Given the description of an element on the screen output the (x, y) to click on. 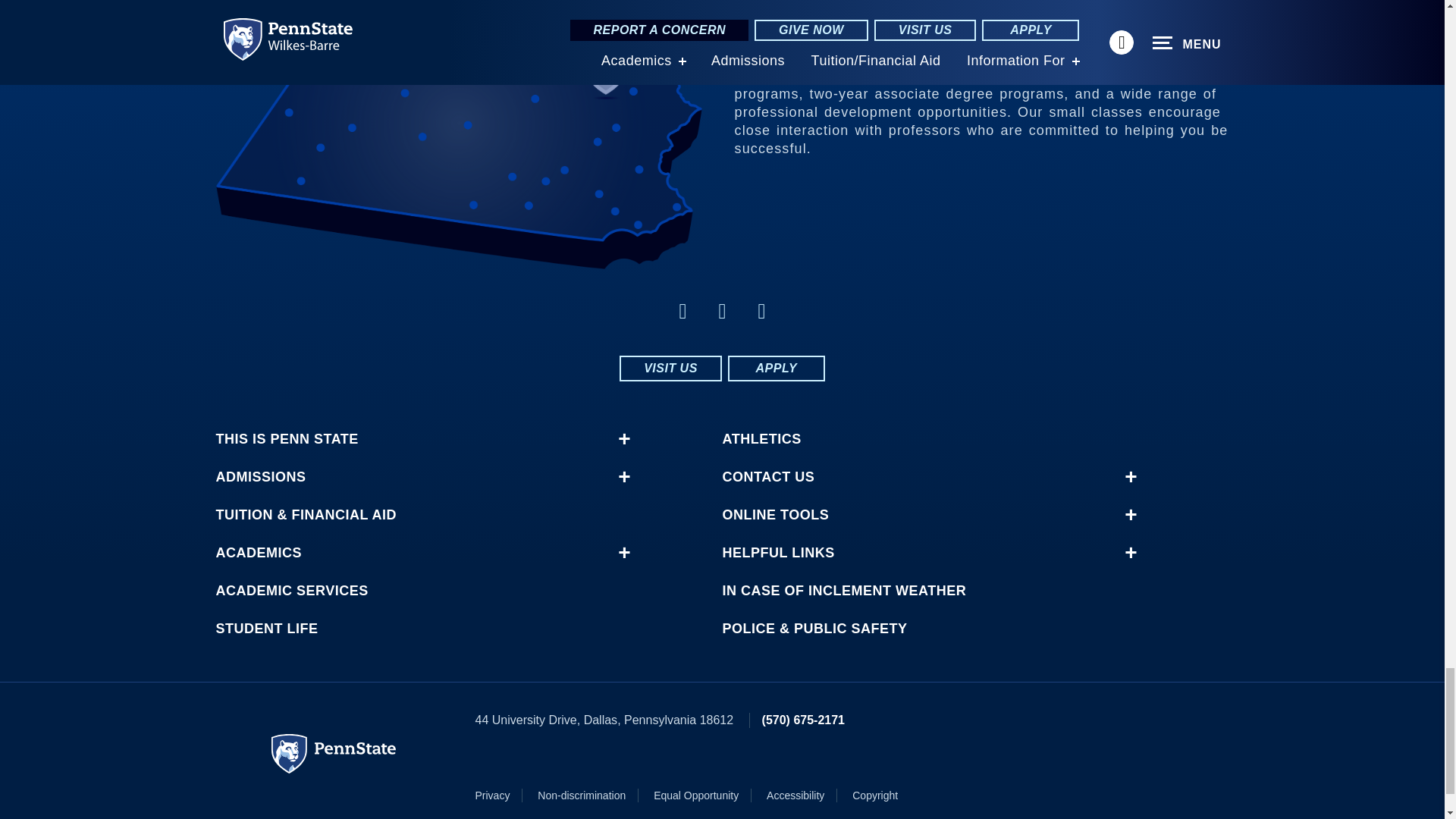
facebook (721, 310)
Penn State University (333, 753)
youtube (761, 310)
instagram (682, 310)
